Given the description of an element on the screen output the (x, y) to click on. 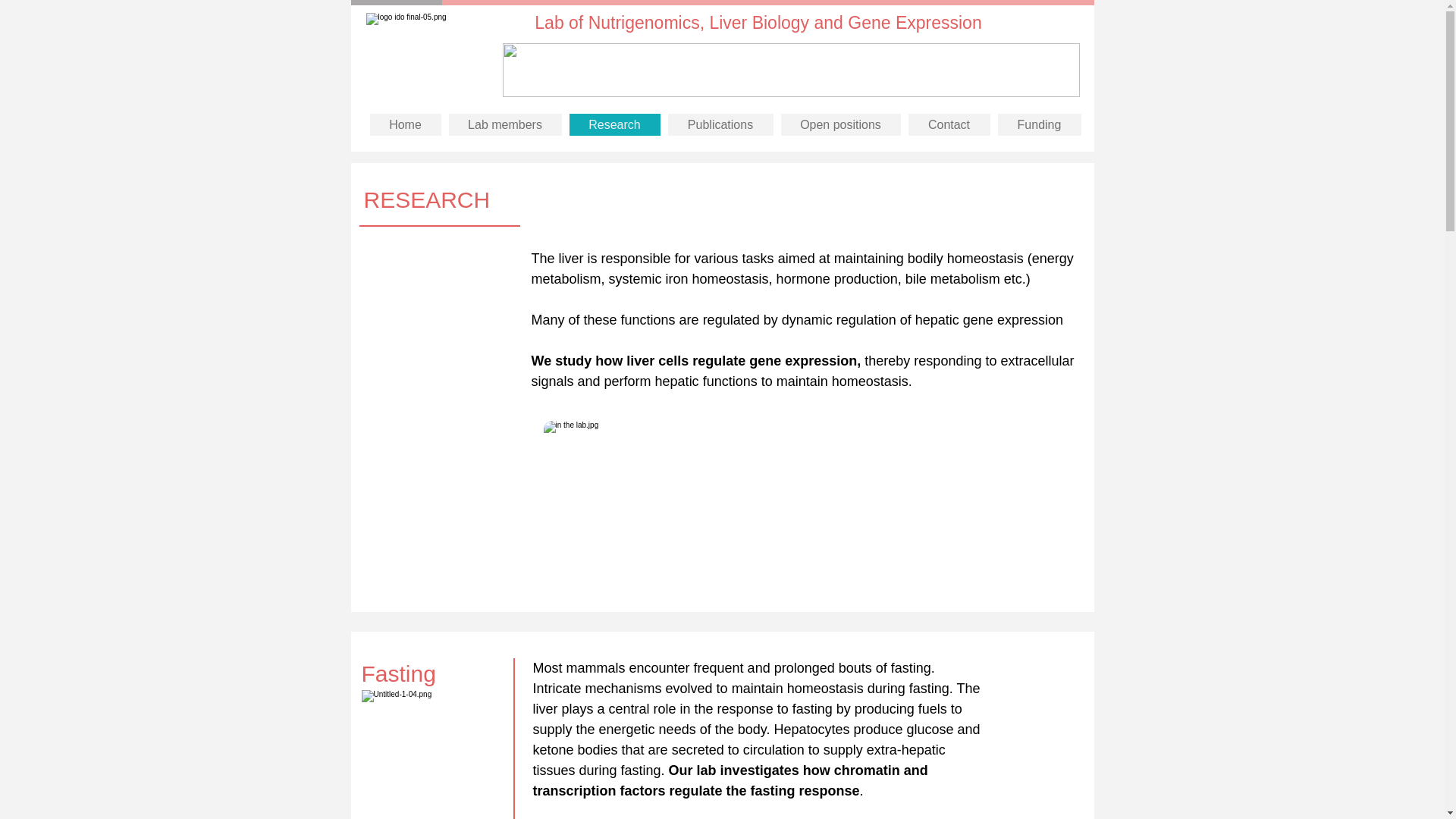
Open positions (840, 124)
Home (405, 124)
Research (614, 124)
nergy metabolism, s (802, 268)
Lab of Nutrigenomics, Liver Biology and Gene Expression (757, 22)
Funding (1039, 124)
Publications (719, 124)
Lab members (505, 124)
Contact (949, 124)
